Given the description of an element on the screen output the (x, y) to click on. 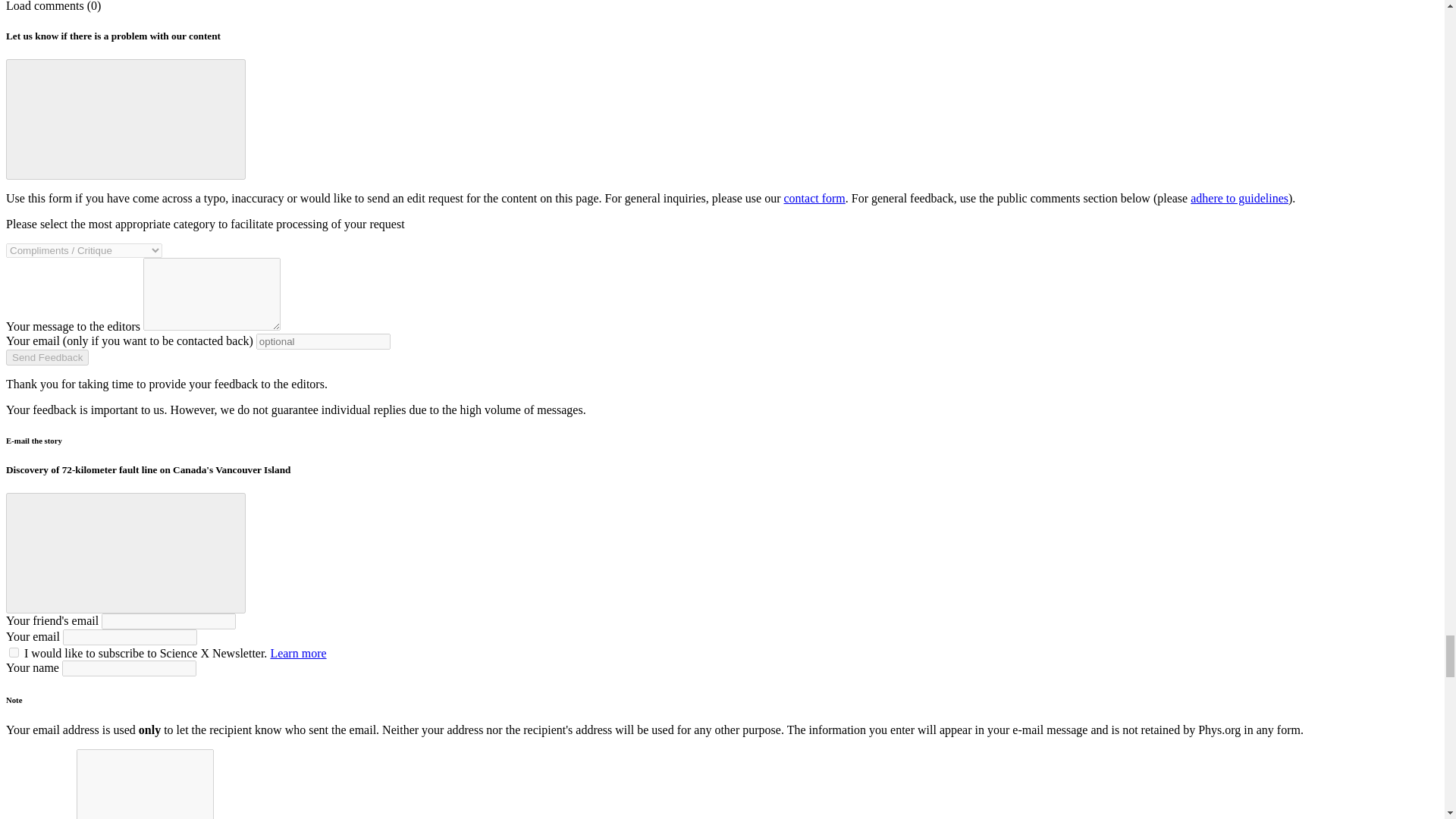
1 (13, 652)
